Given the description of an element on the screen output the (x, y) to click on. 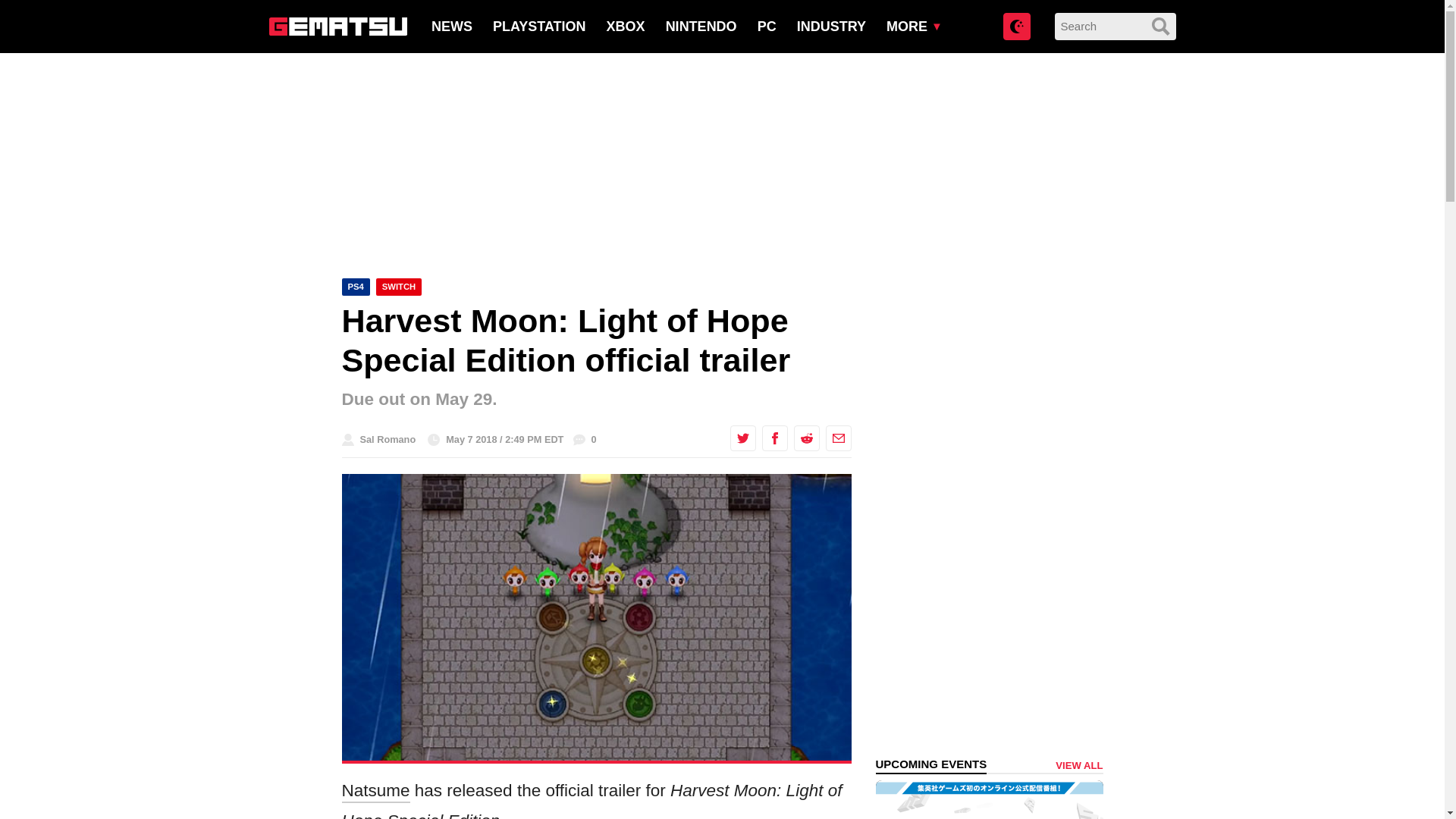
XBOX (626, 26)
Share this by email (837, 438)
Share this on Twitter (742, 438)
NINTENDO (700, 26)
Share this on Facebook (774, 438)
NEWS (450, 26)
MORE (906, 26)
Share this on Reddit (805, 438)
PLAYSTATION (539, 26)
Posts by Sal Romano (386, 439)
Gematsu (336, 26)
PC (766, 26)
INDUSTRY (831, 26)
